Given the description of an element on the screen output the (x, y) to click on. 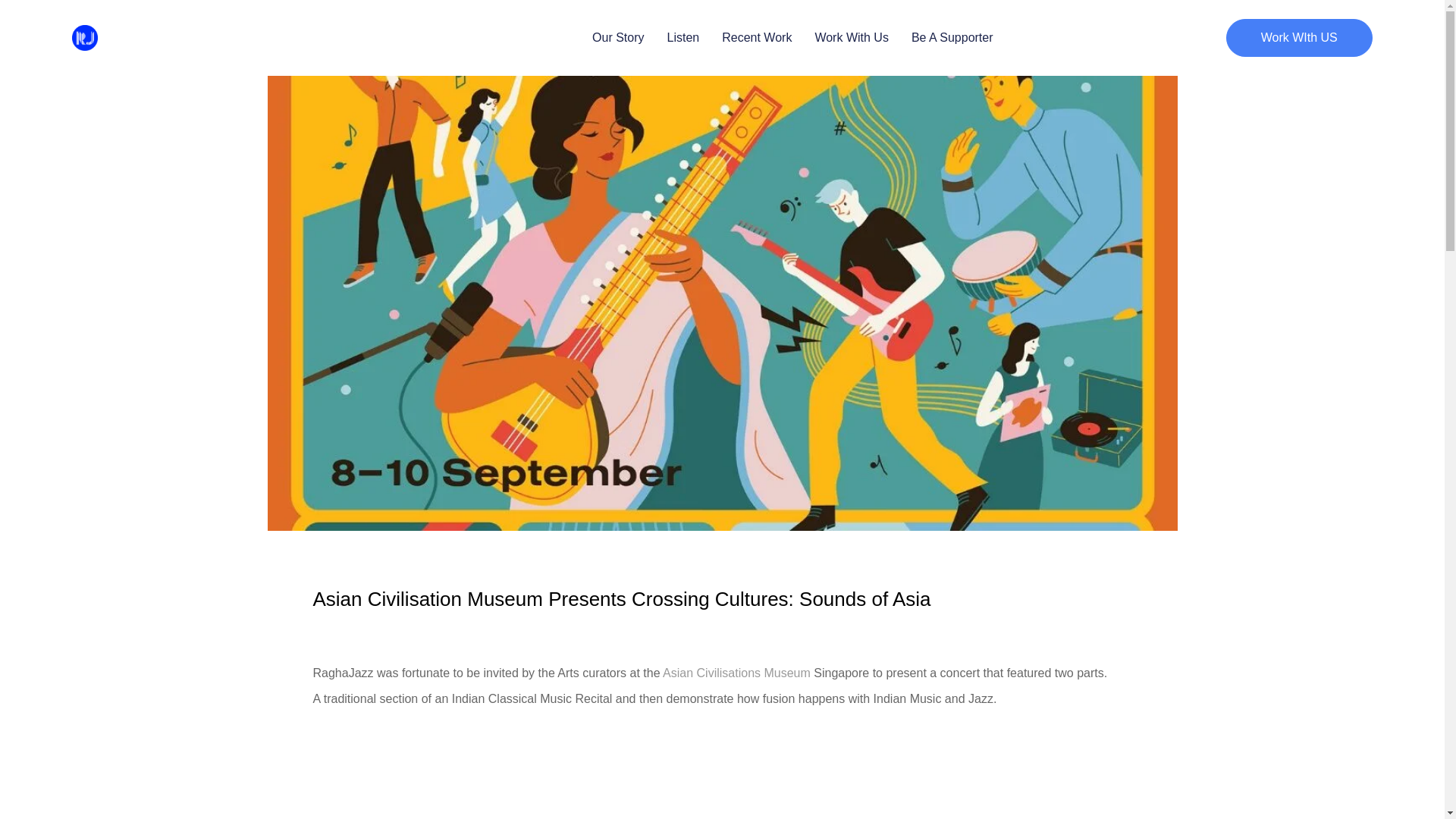
Asian Civilisations Museum (736, 672)
Listen (683, 37)
Work With Us (850, 37)
Recent Work (757, 37)
Be A Supporter (951, 37)
Our Story (617, 37)
Work WIth US (1299, 37)
